Given the description of an element on the screen output the (x, y) to click on. 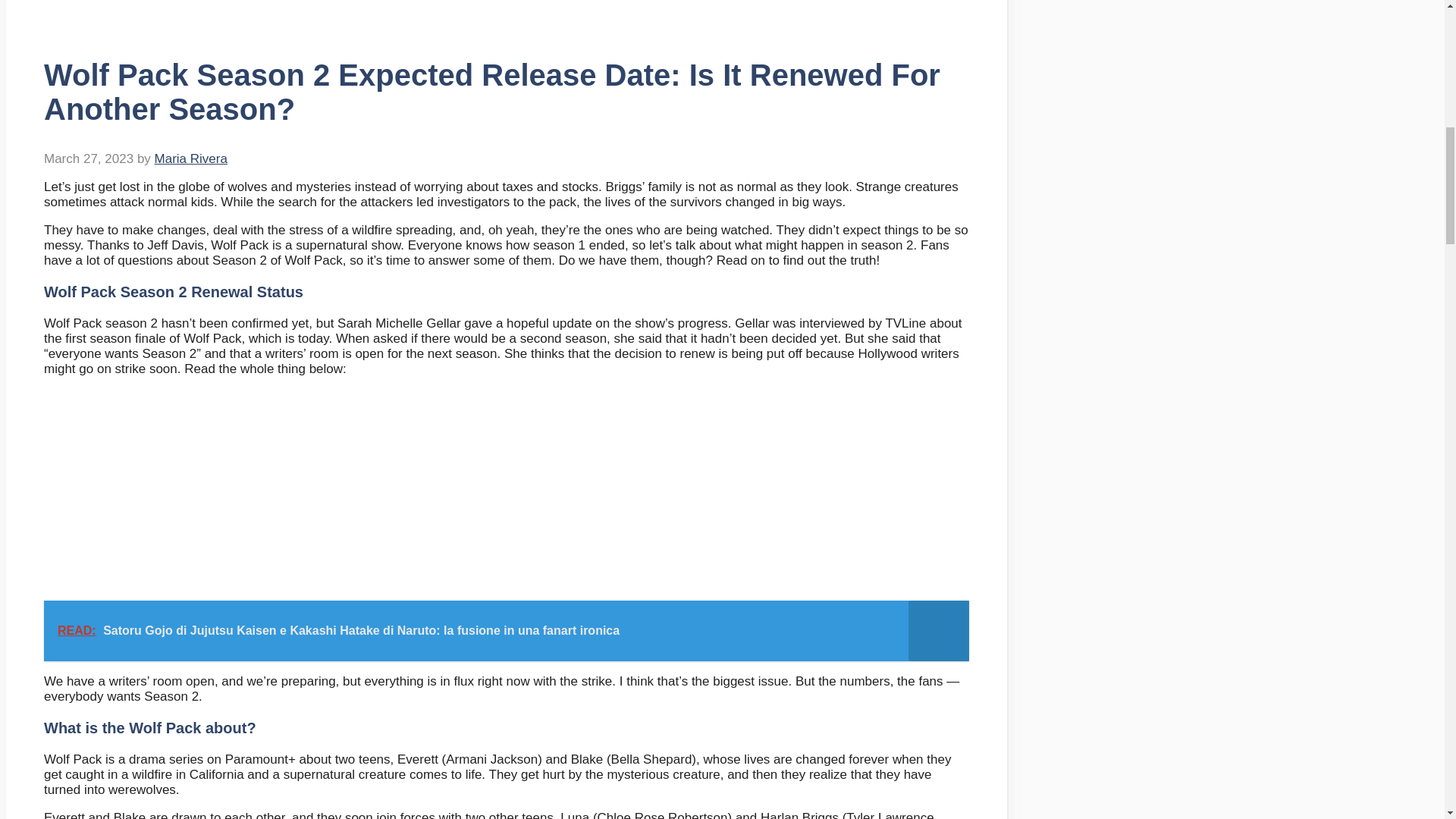
View all posts by Maria Rivera (190, 158)
Maria Rivera (190, 158)
